Given the description of an element on the screen output the (x, y) to click on. 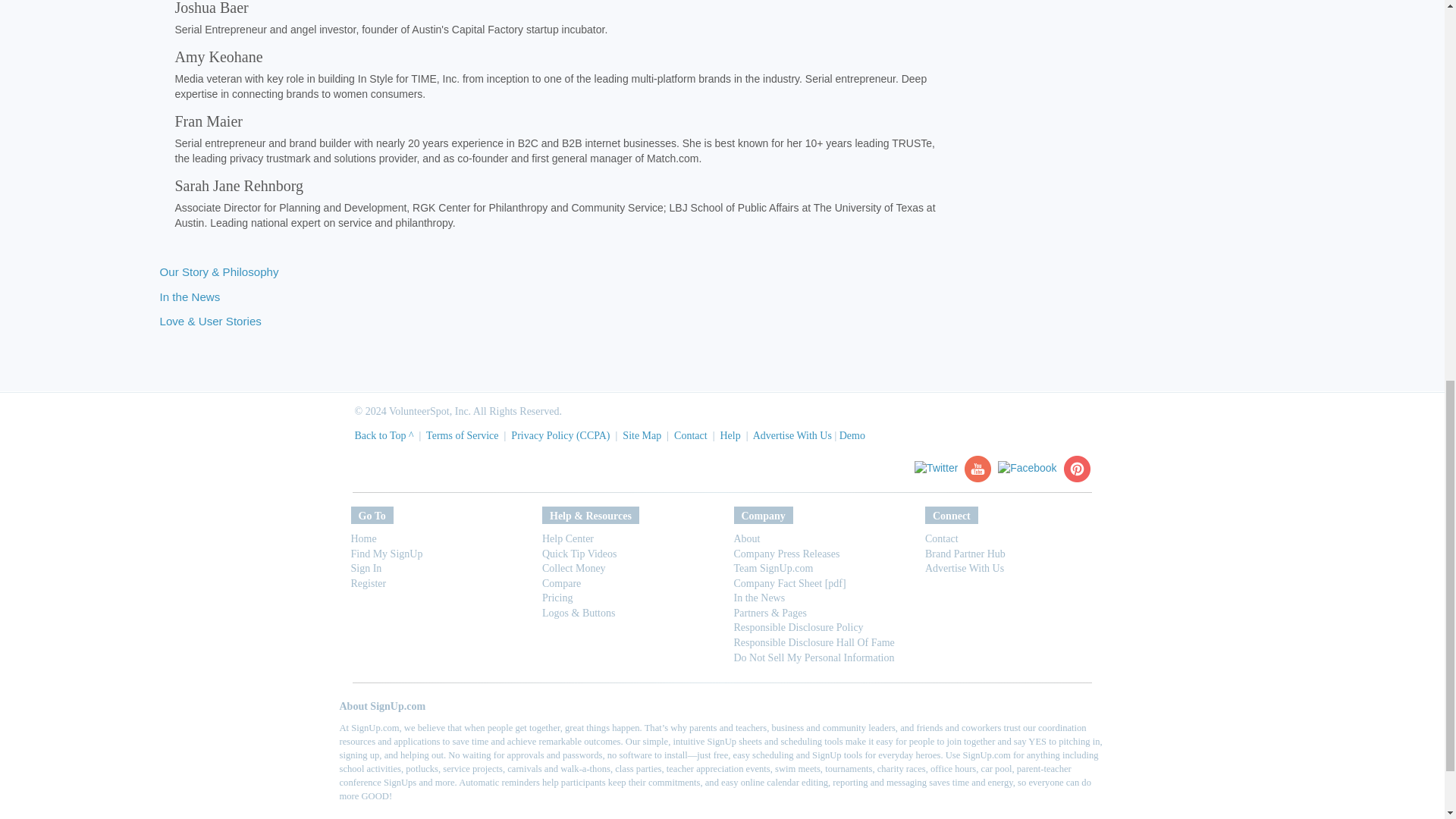
Team SignUp.com (773, 568)
Advertise With Us (791, 435)
Help (729, 435)
Help Center (567, 538)
Sign In (365, 568)
Quick Tip Videos (578, 552)
About (746, 538)
Site Map (642, 435)
Find My SignUp (386, 552)
Home (362, 538)
Company Press Releases (786, 552)
Privacy Policy (542, 435)
Compare (560, 583)
Terms of Service (461, 435)
Demo (852, 435)
